Given the description of an element on the screen output the (x, y) to click on. 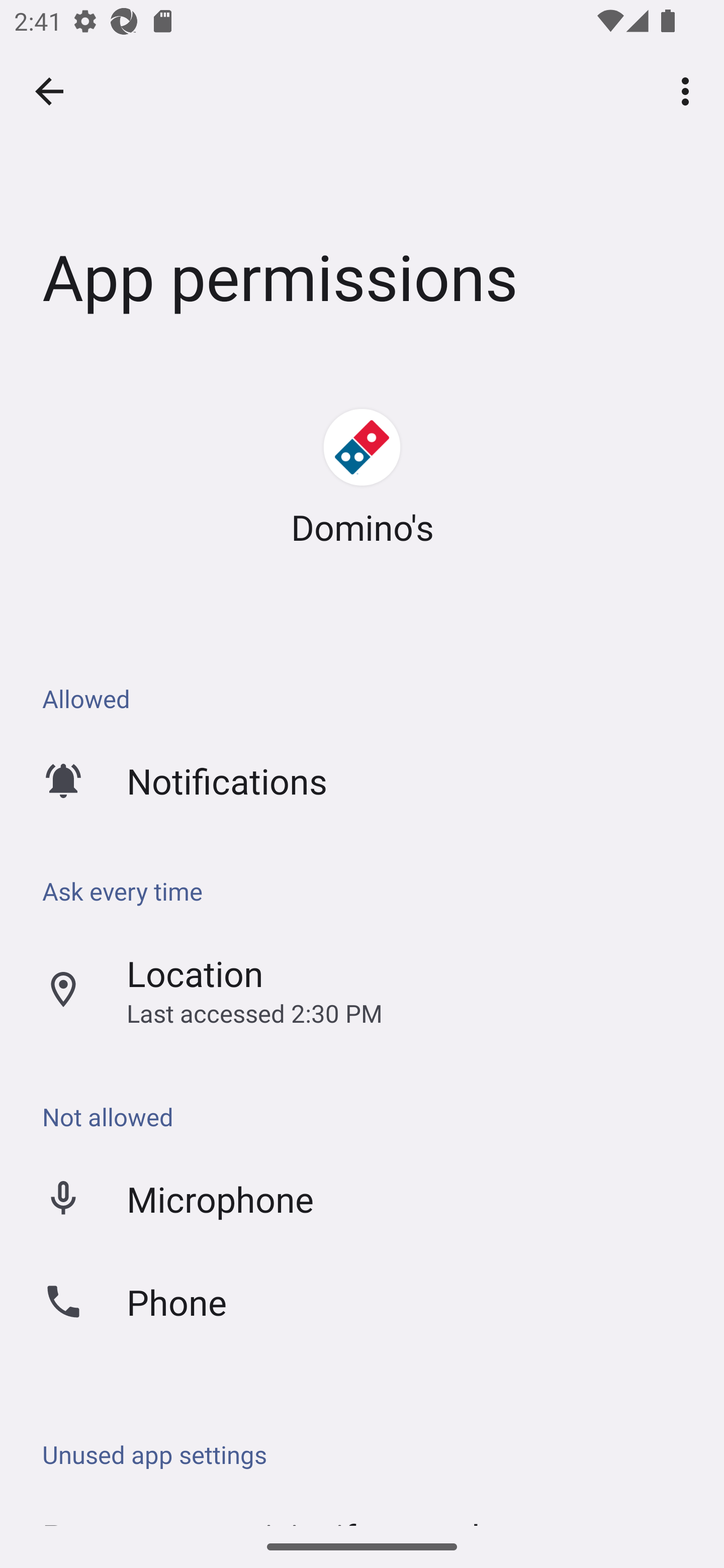
Back (49, 91)
More options (688, 90)
Notifications (362, 780)
Location Last accessed 2:30 PM (362, 989)
Microphone (362, 1198)
Phone (362, 1301)
